Given the description of an element on the screen output the (x, y) to click on. 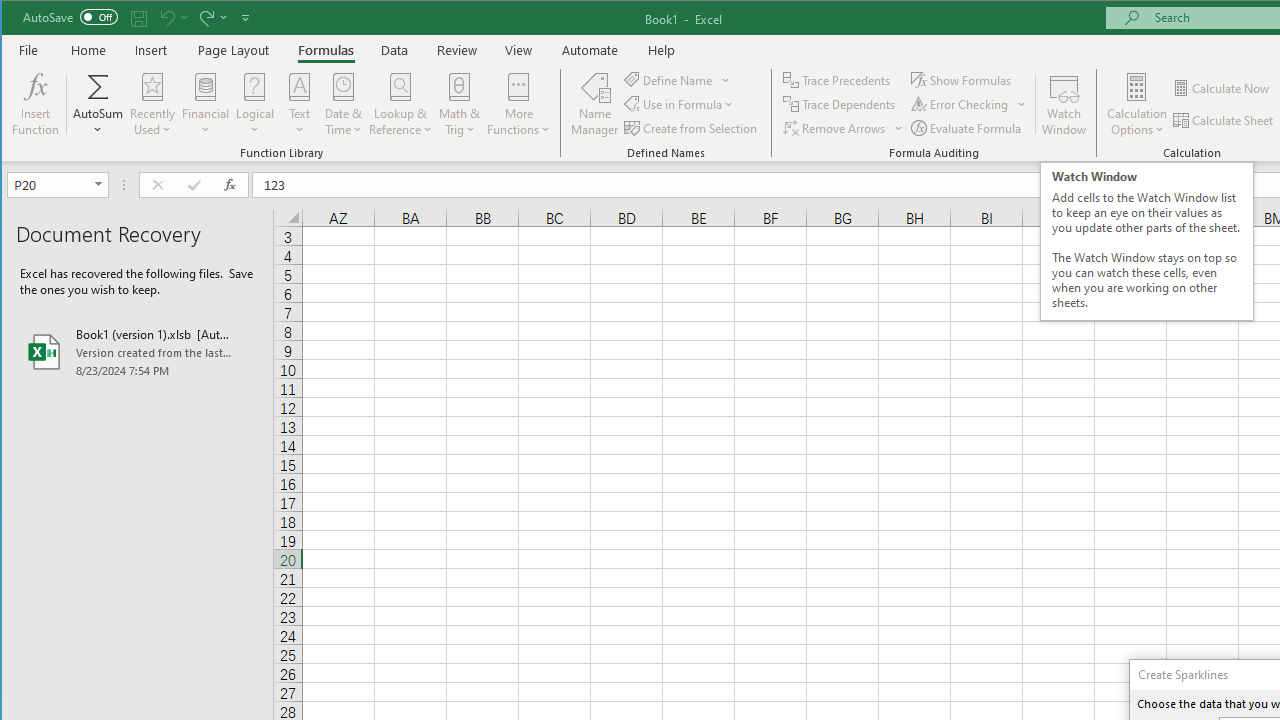
Evaluate Formula (967, 127)
Text (300, 104)
Remove Arrows (835, 127)
Calculate Sheet (1224, 119)
Recently Used (152, 104)
Trace Precedents (838, 80)
Remove Arrows (843, 127)
Logical (255, 104)
